Given the description of an element on the screen output the (x, y) to click on. 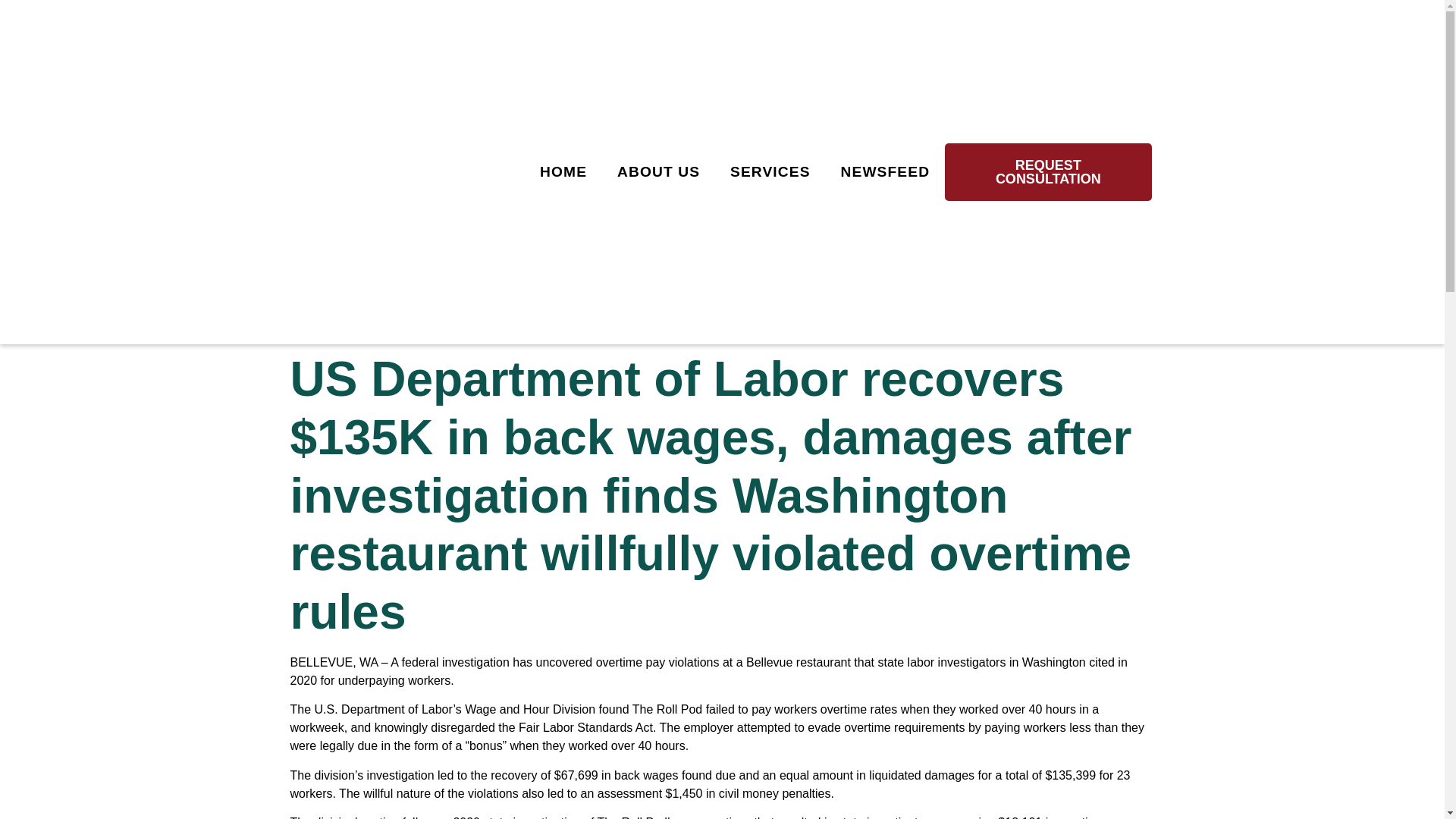
ABOUT US (658, 171)
SERVICES (769, 171)
HOME (563, 171)
NEWSFEED (884, 171)
REQUEST CONSULTATION (1047, 171)
